Given the description of an element on the screen output the (x, y) to click on. 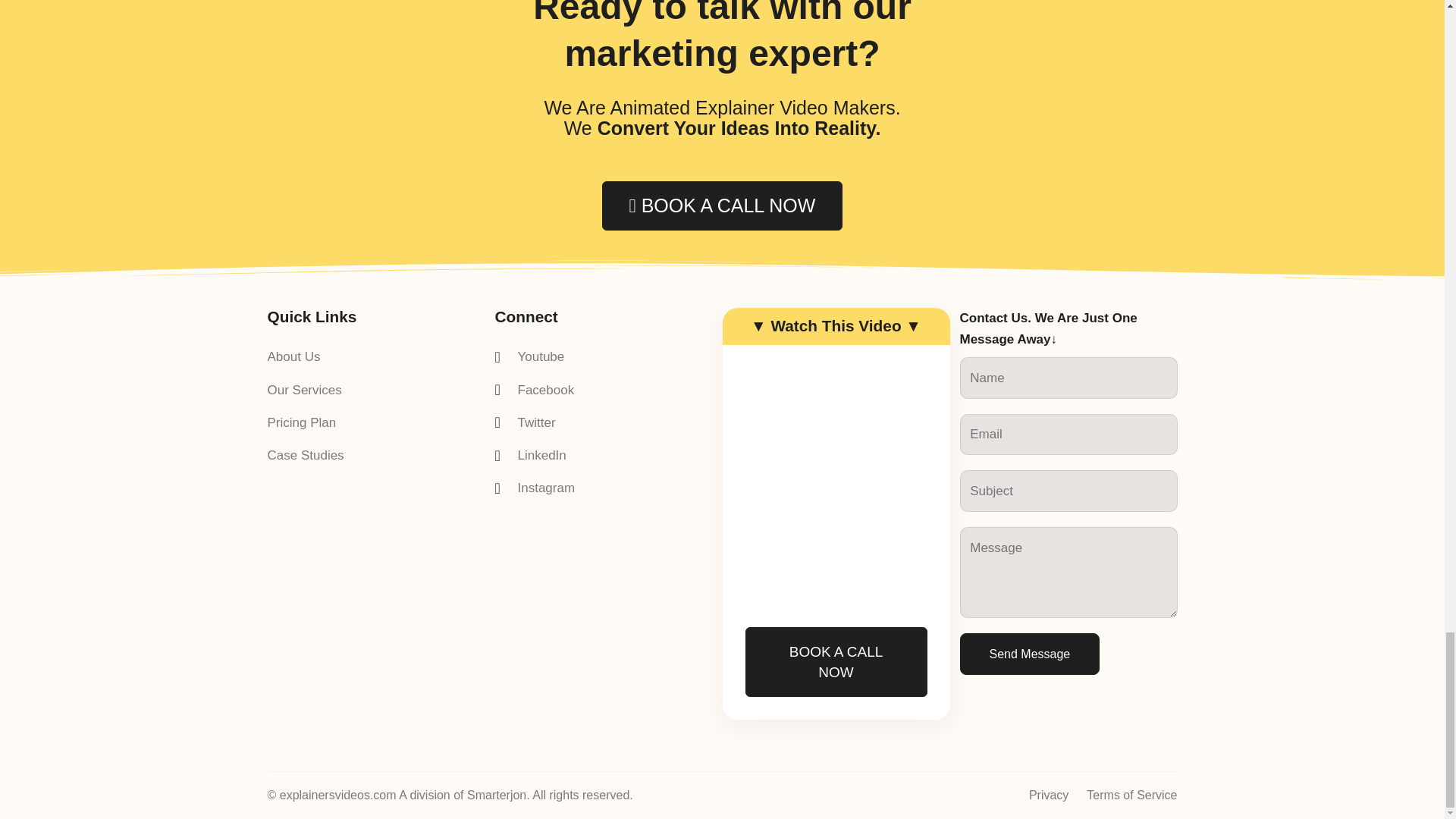
Pricing Plan (304, 422)
Youtube (535, 356)
Our Services (304, 390)
LinkedIn (535, 455)
About Us (304, 356)
Twitter (535, 422)
Case Studies (304, 455)
Facebook (535, 390)
